Given the description of an element on the screen output the (x, y) to click on. 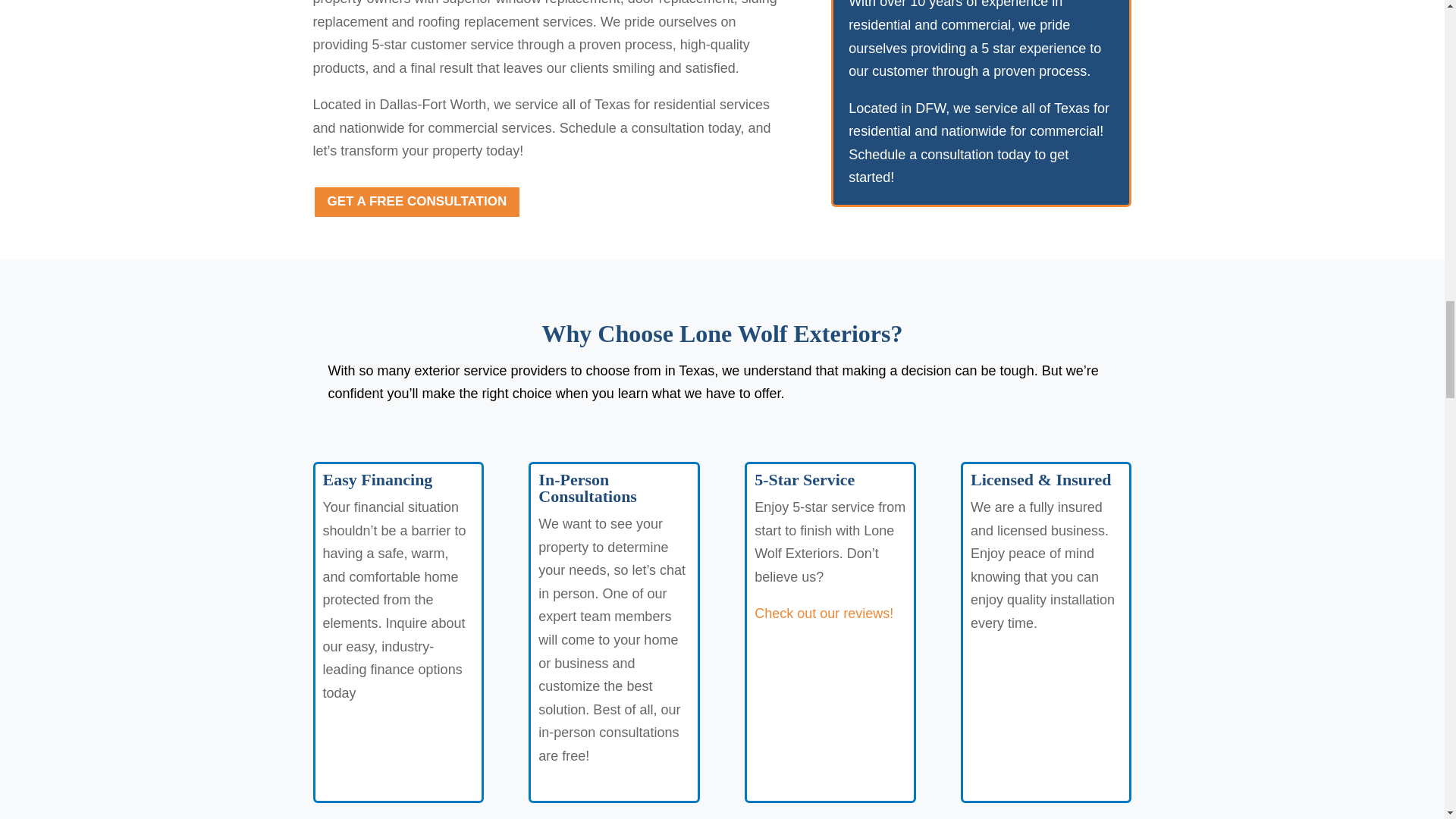
GET A FREE CONSULTATION (417, 201)
Check out our reviews! (823, 613)
